Given the description of an element on the screen output the (x, y) to click on. 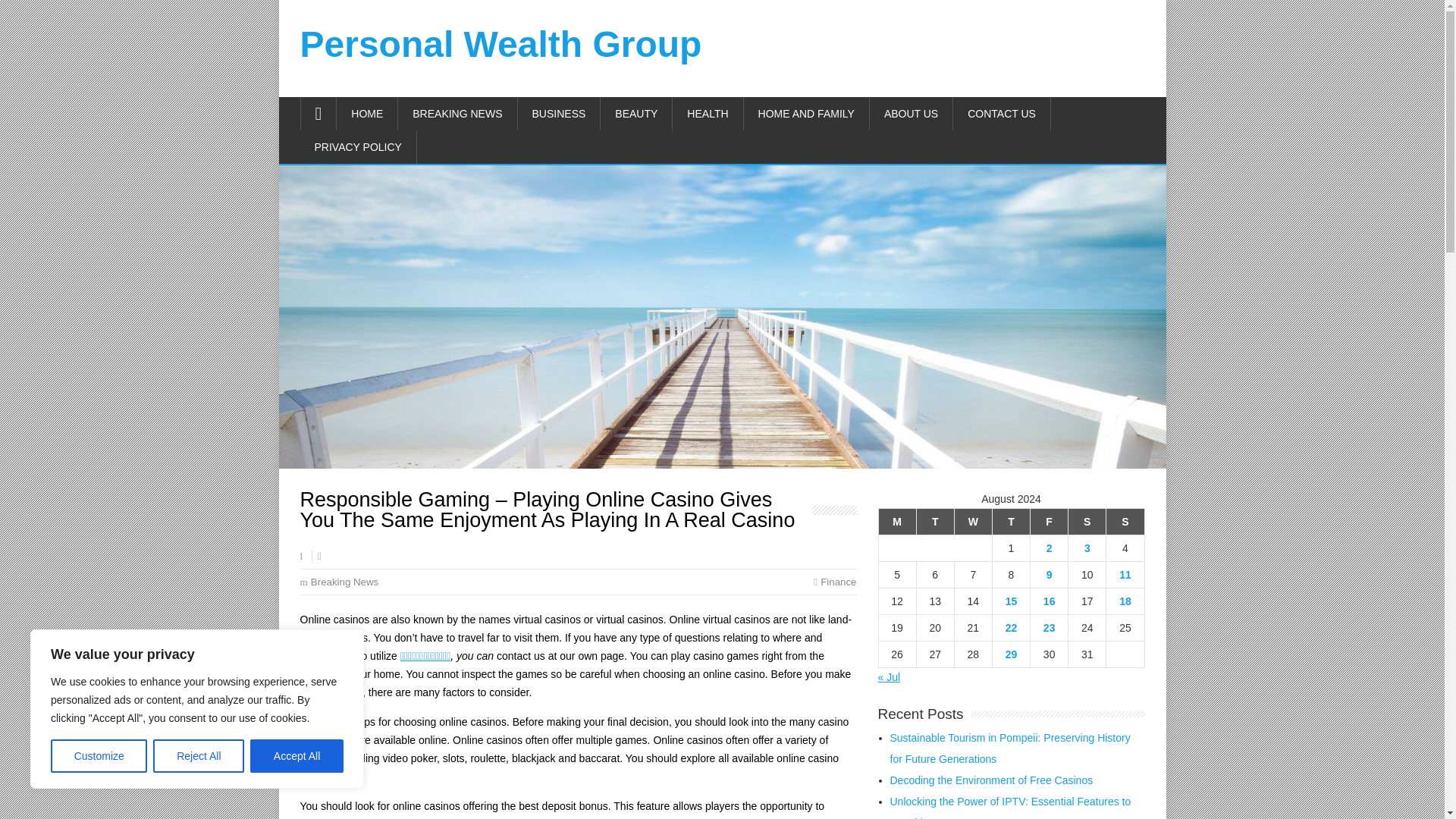
HOME AND FAMILY (806, 113)
Breaking News (344, 582)
PRIVACY POLICY (357, 146)
Reject All (198, 756)
Monday (896, 520)
BREAKING NEWS (456, 113)
Customize (98, 756)
Finance (838, 582)
ABOUT US (911, 113)
Accept All (296, 756)
